Given the description of an element on the screen output the (x, y) to click on. 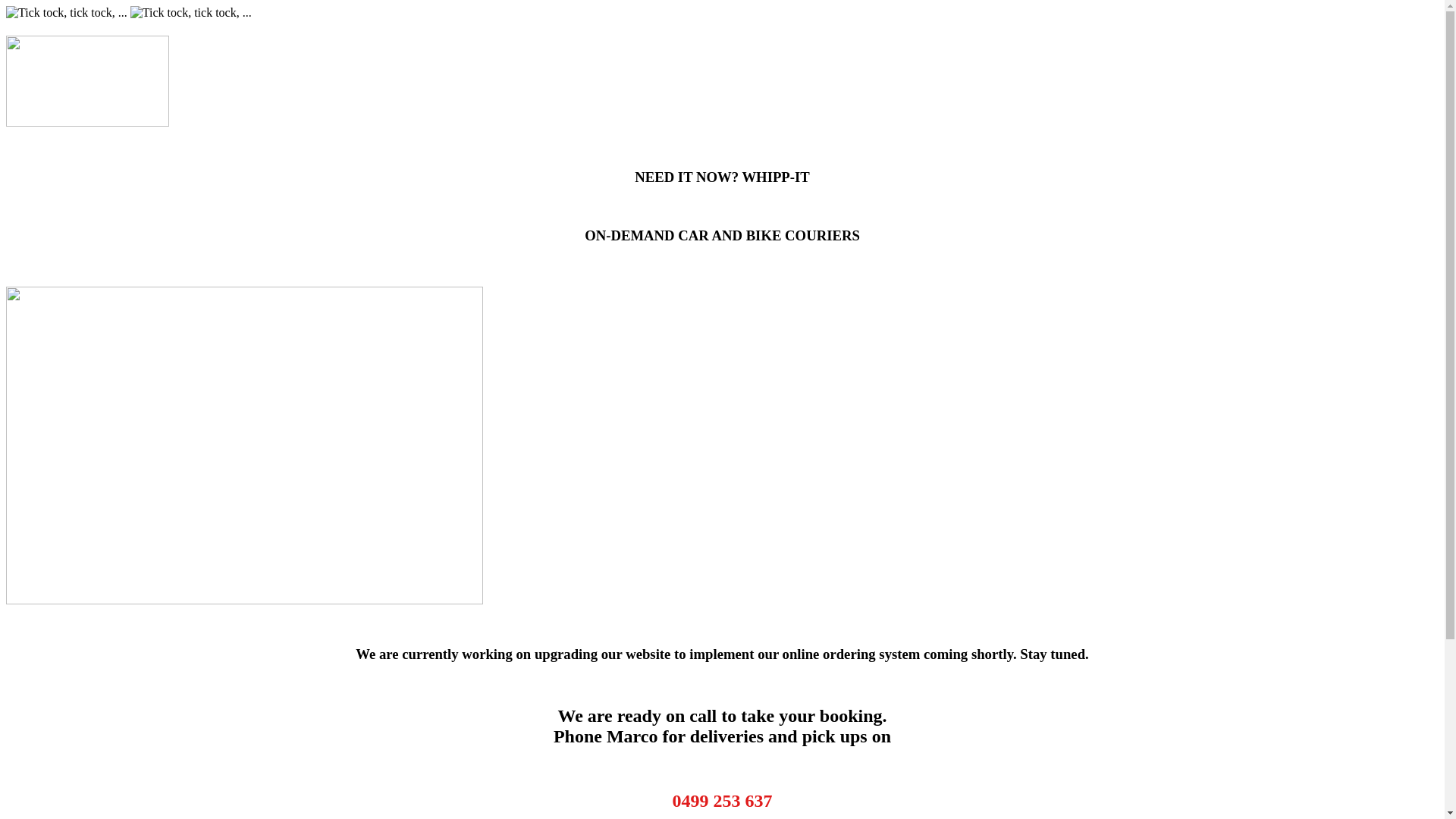
Tick tock, tick tock, ... Element type: hover (66, 12)
Tick tock, tick tock, ... Element type: hover (190, 12)
